Given the description of an element on the screen output the (x, y) to click on. 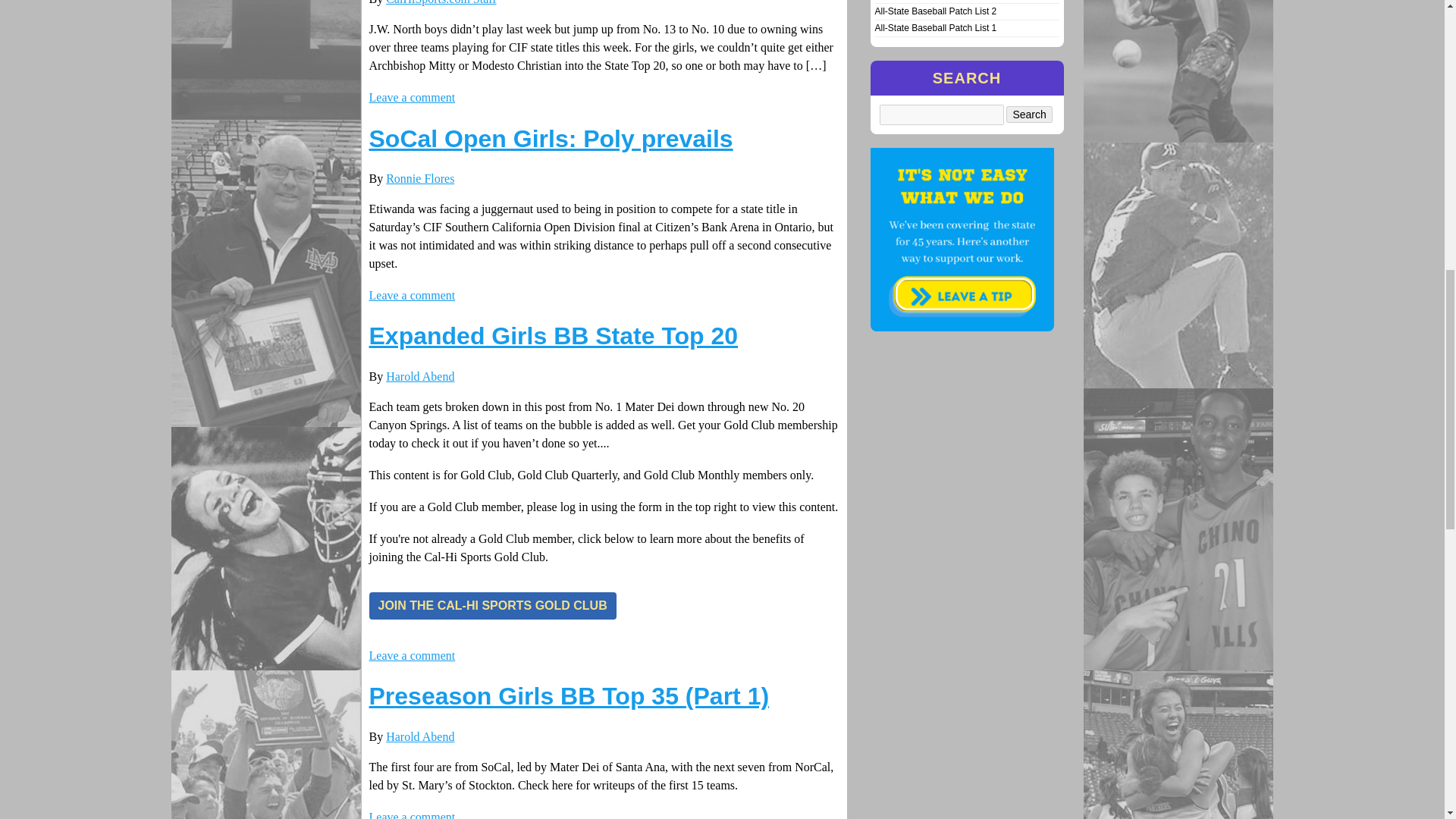
Search (1028, 114)
View all posts by Harold Abend (419, 736)
View all posts by Ronnie Flores (419, 178)
View all posts by Harold Abend (419, 376)
View all posts by CalHiSports.com Staff (440, 2)
Permalink to SoCal Open Girls: Poly prevails (550, 138)
Permalink to Expanded Girls BB State Top 20 (553, 335)
